Given the description of an element on the screen output the (x, y) to click on. 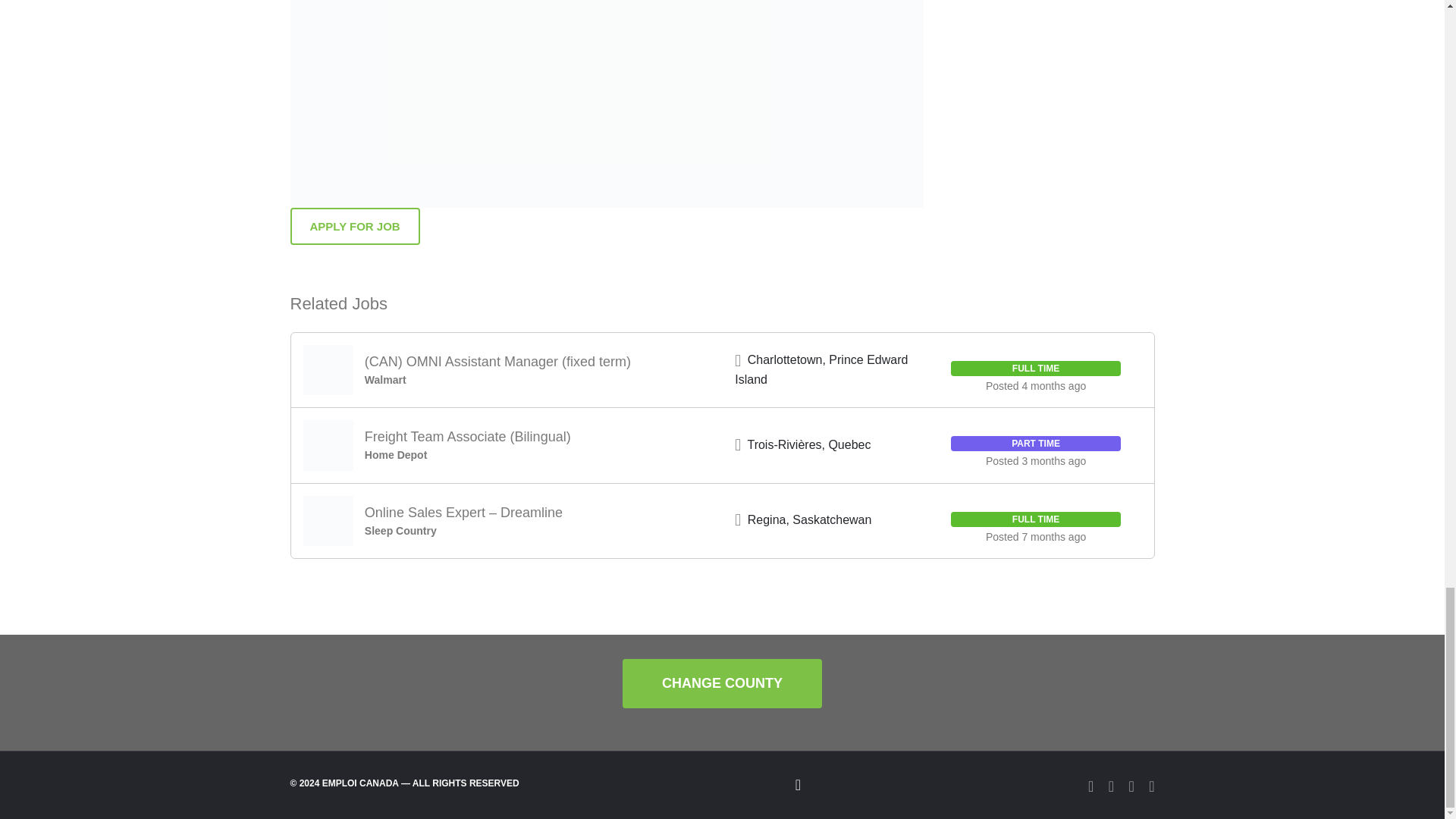
APPLY FOR JOB (354, 226)
